Given the description of an element on the screen output the (x, y) to click on. 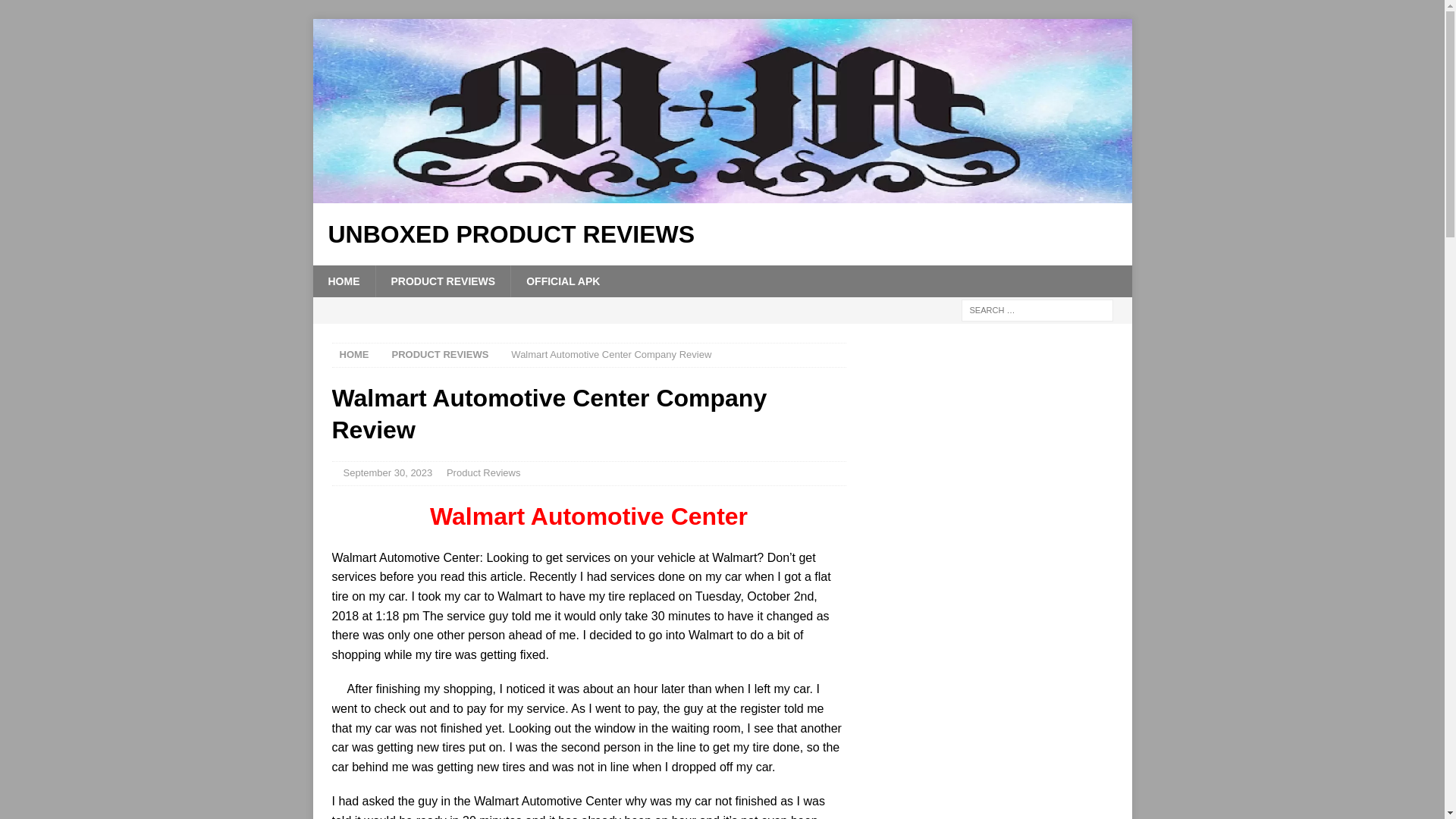
unboxed product reviews (722, 194)
PRODUCT REVIEWS (442, 281)
PRODUCT REVIEWS (439, 354)
Product Reviews (439, 354)
HOME (343, 281)
UNBOXED PRODUCT REVIEWS (721, 233)
Home (354, 354)
Search (56, 11)
unboxed product reviews (721, 233)
September 30, 2023 (387, 472)
